Given the description of an element on the screen output the (x, y) to click on. 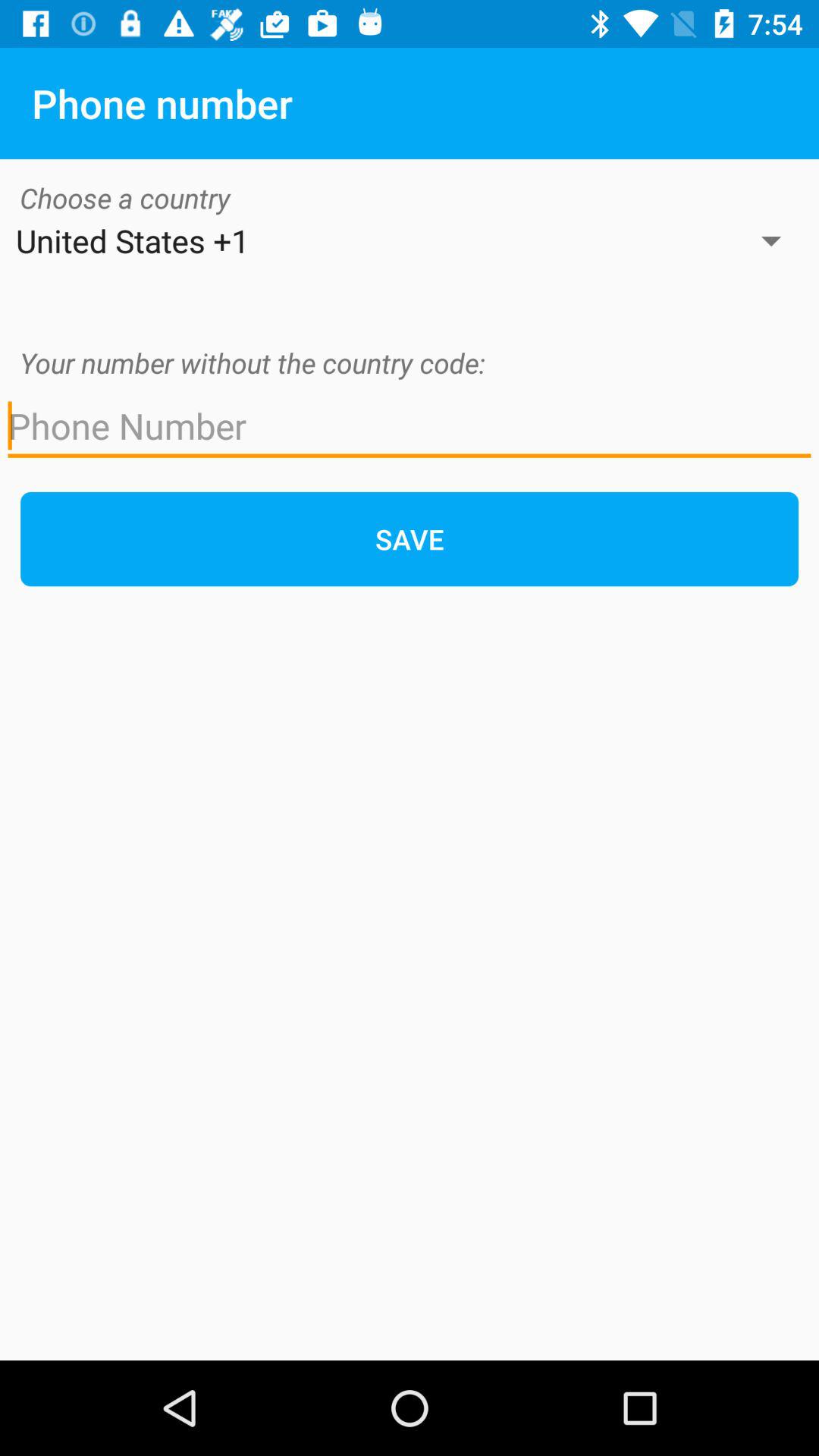
type your phone number (409, 426)
